Given the description of an element on the screen output the (x, y) to click on. 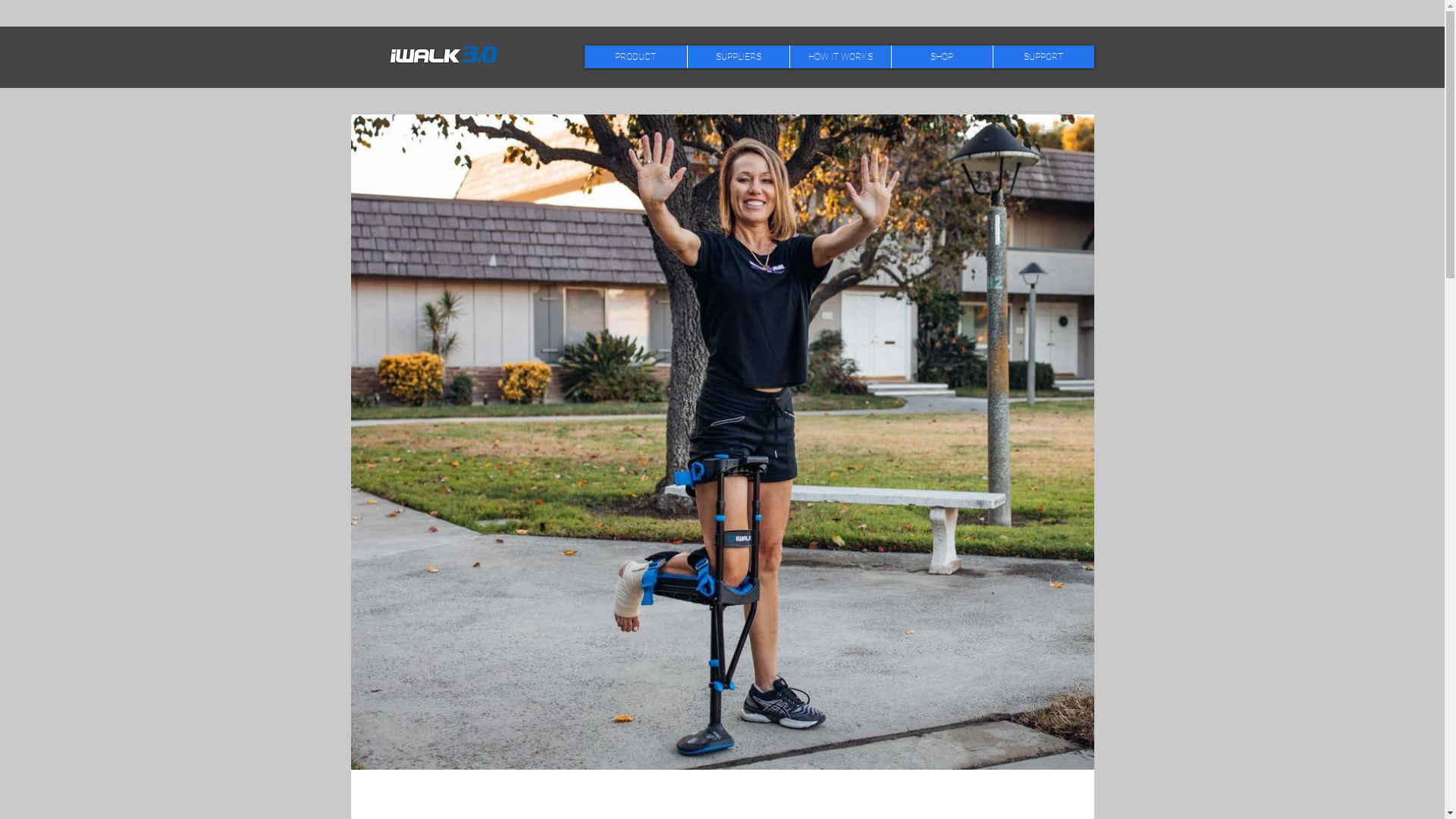
HOW IT WORKS Element type: text (839, 56)
SUPPORT Element type: text (1042, 56)
PRODUCT Element type: text (634, 56)
SHOP Element type: text (940, 56)
SUPPLIERS Element type: text (738, 56)
